Given the description of an element on the screen output the (x, y) to click on. 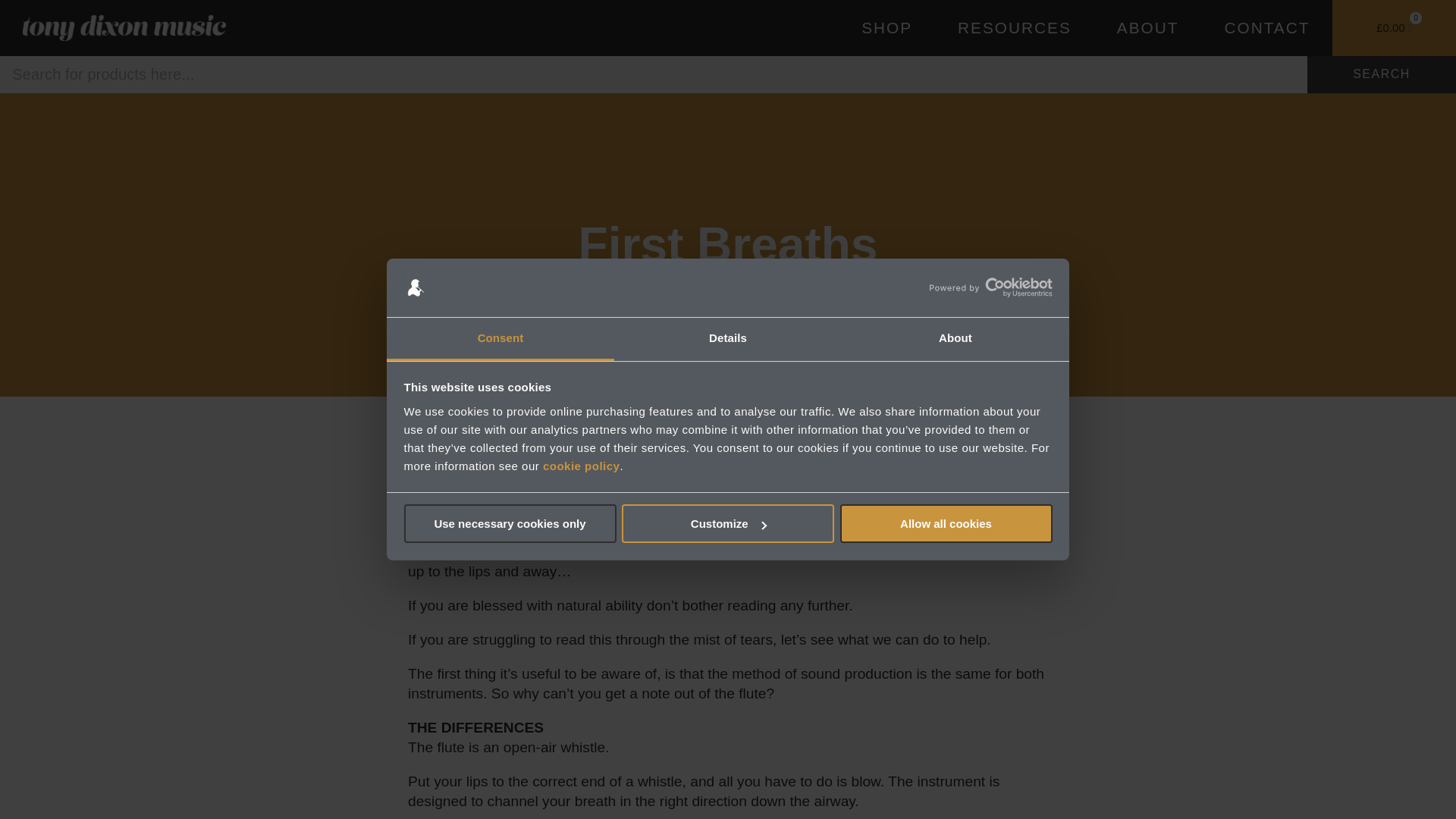
Consent (500, 339)
Allow all cookies (946, 523)
Use necessary cookies only (509, 523)
SHOP (886, 27)
cookie policy (581, 465)
About (954, 339)
Customize (727, 523)
Details (727, 339)
